Given the description of an element on the screen output the (x, y) to click on. 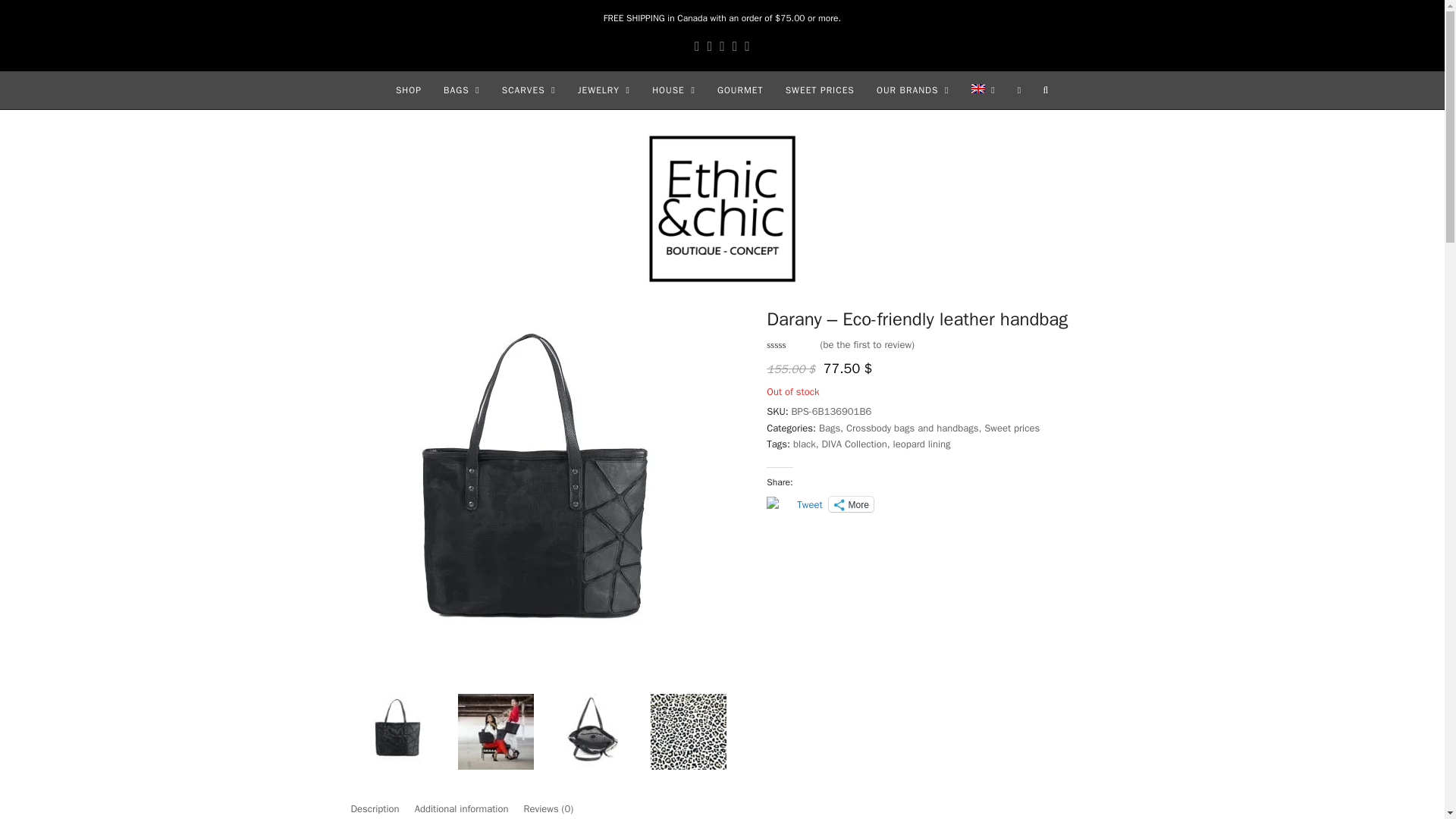
SHOP (408, 89)
BAGS (461, 89)
JEWELRY (603, 89)
SWEET PRICES (819, 89)
OUR BRANDS (911, 89)
SCARVES (528, 89)
HOUSE (674, 89)
GOURMET (740, 89)
Leopard lining (688, 733)
